Given the description of an element on the screen output the (x, y) to click on. 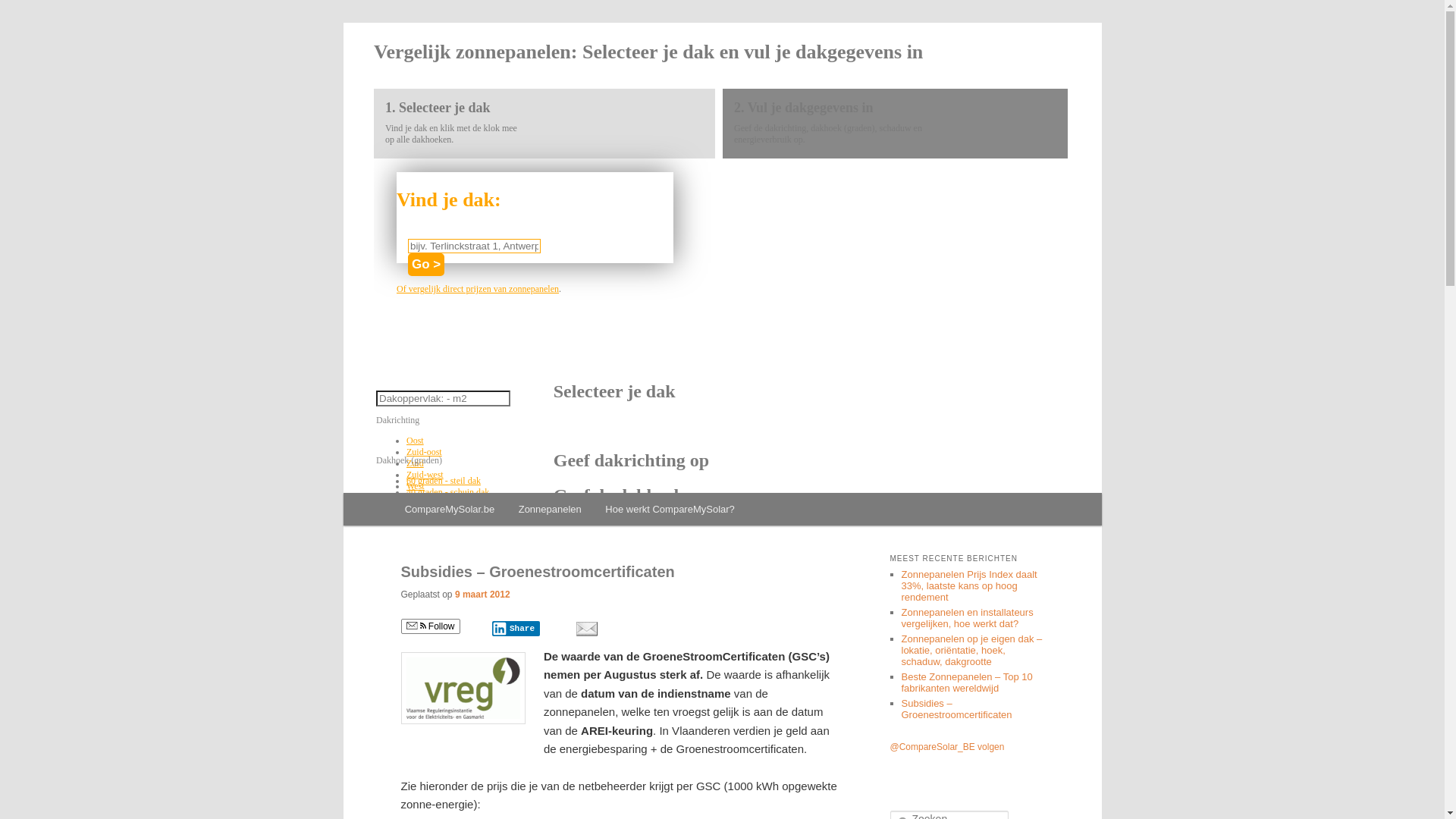
Follow Element type: text (429, 625)
9 maart 2012 Element type: text (482, 594)
CompareMySolar.be Blog Element type: text (537, 77)
Email, RSS Element type: hover (416, 626)
Zoeken Element type: text (21, 10)
Share Element type: text (515, 628)
Zonnepanelen Element type: text (549, 508)
Spring naar de primaire inhoud Element type: text (491, 511)
Hoe werkt CompareMySolar? Element type: text (669, 508)
vreg Element type: hover (462, 688)
Email Element type: hover (585, 628)
@CompareSolar_BE volgen Element type: text (947, 746)
CompareMySolar.be Element type: text (449, 508)
Zonnepanelen en installateurs vergelijken, hoe werkt dat? Element type: text (966, 617)
Spring naar de secundaire inhoud Element type: text (499, 511)
